Given the description of an element on the screen output the (x, y) to click on. 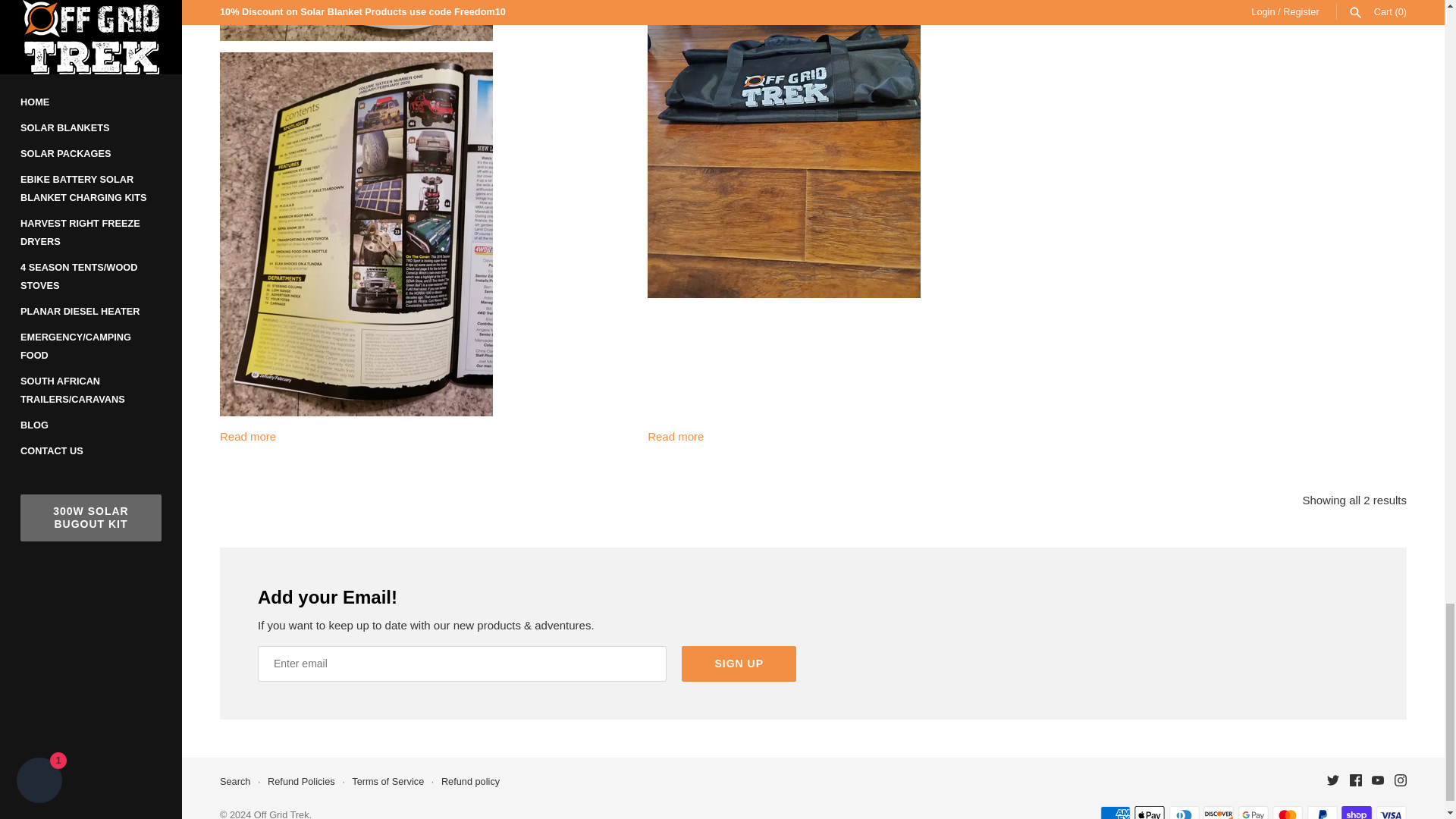
Instagram (1400, 779)
Diners Club (1184, 812)
Shop Pay (1355, 812)
PayPal (1322, 812)
Youtube (1377, 779)
Discover (1218, 812)
Facebook (1355, 779)
Mastercard (1287, 812)
Twitter (1332, 779)
Google Pay (1253, 812)
Apple Pay (1149, 812)
American Express (1115, 812)
